Given the description of an element on the screen output the (x, y) to click on. 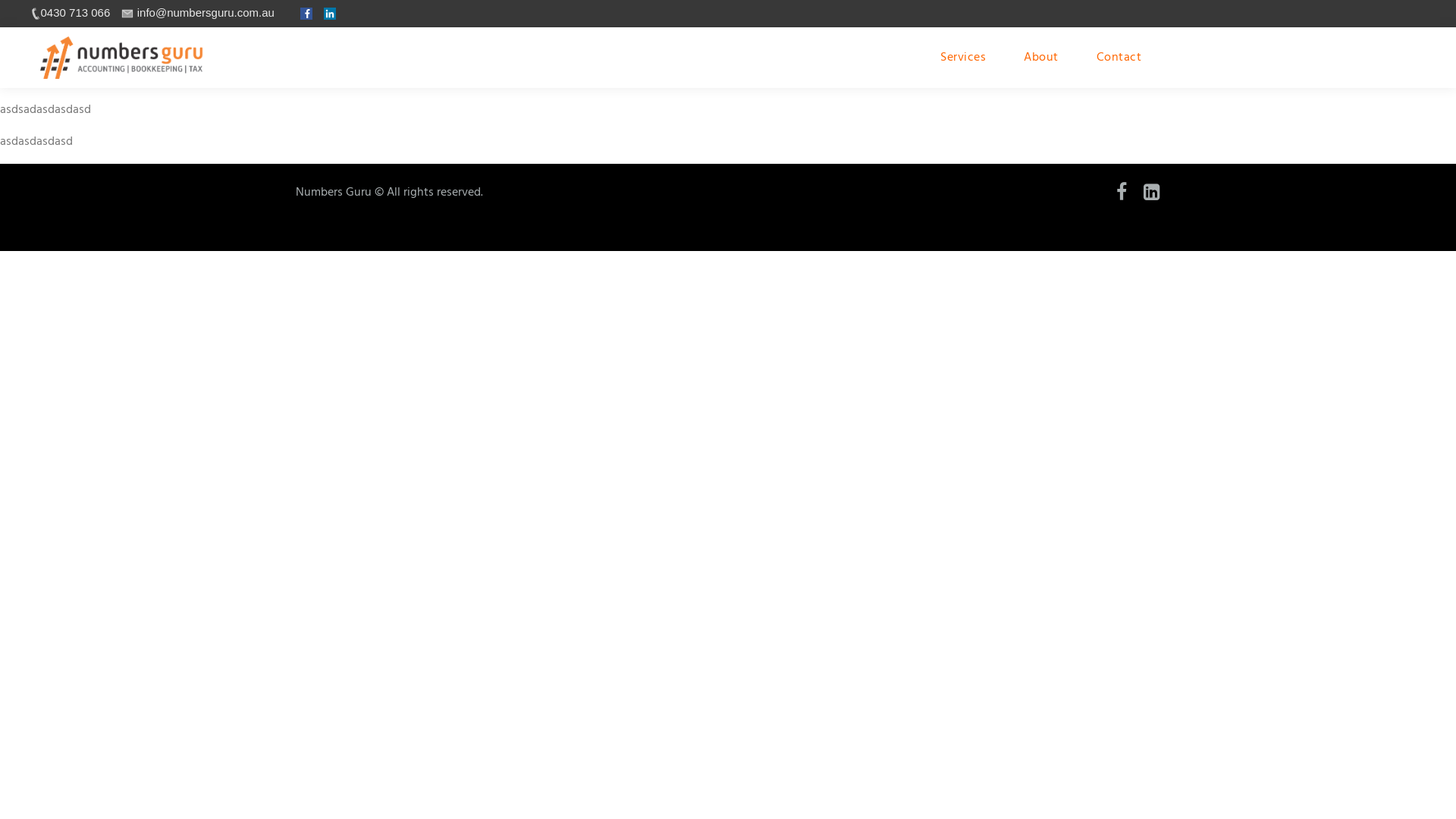
Contact Element type: text (1118, 57)
Services Element type: text (962, 57)
info@numbersguru.com.au Element type: text (199, 12)
About Element type: text (1040, 57)
0430 713 066 Element type: text (69, 12)
